Given the description of an element on the screen output the (x, y) to click on. 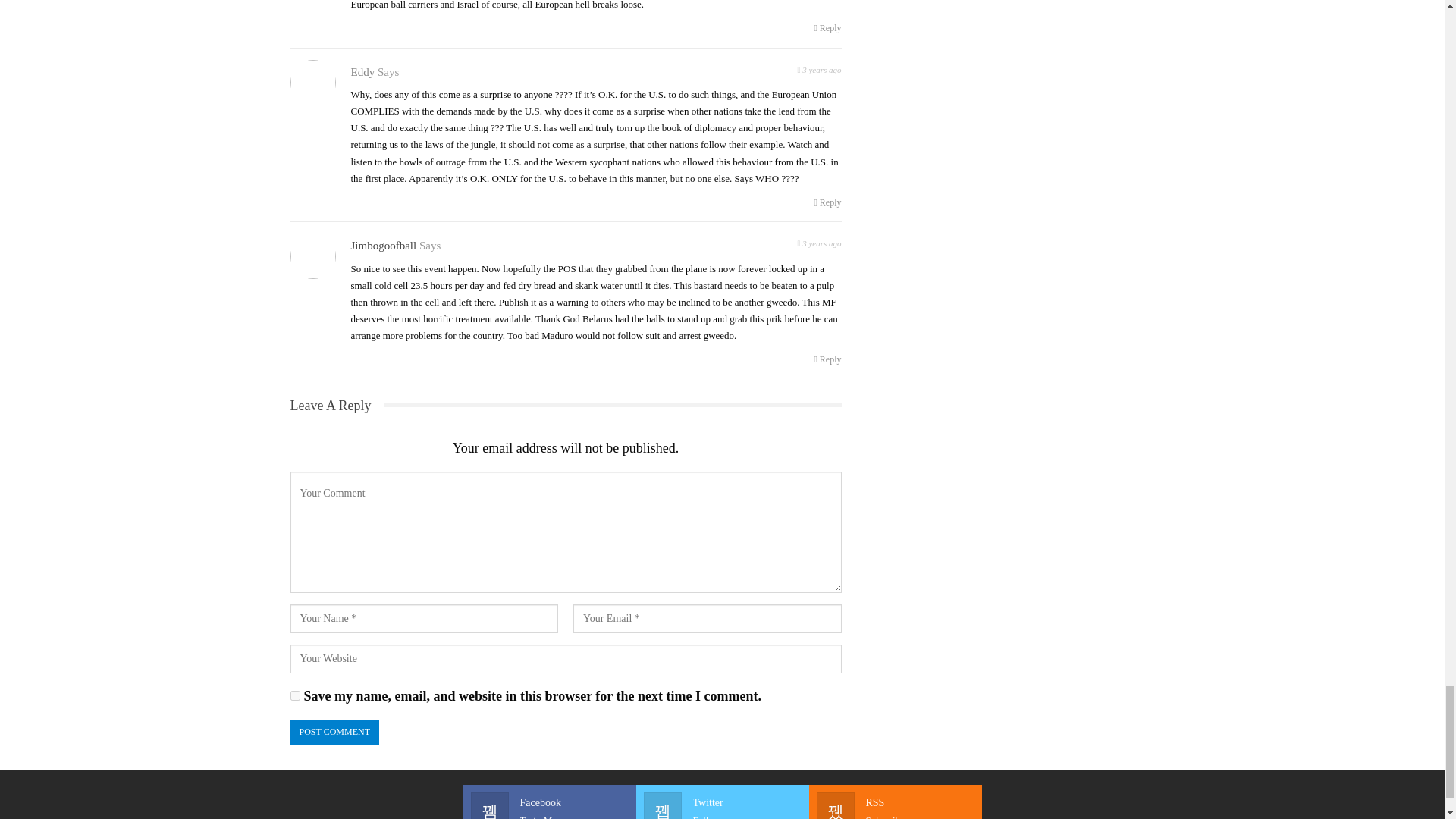
Post Comment (333, 731)
yes (294, 696)
Tuesday, May 25, 2021, 5:39 pm (818, 241)
Reply (827, 201)
Reply (827, 28)
Tuesday, May 25, 2021, 9:37 am (818, 67)
